Given the description of an element on the screen output the (x, y) to click on. 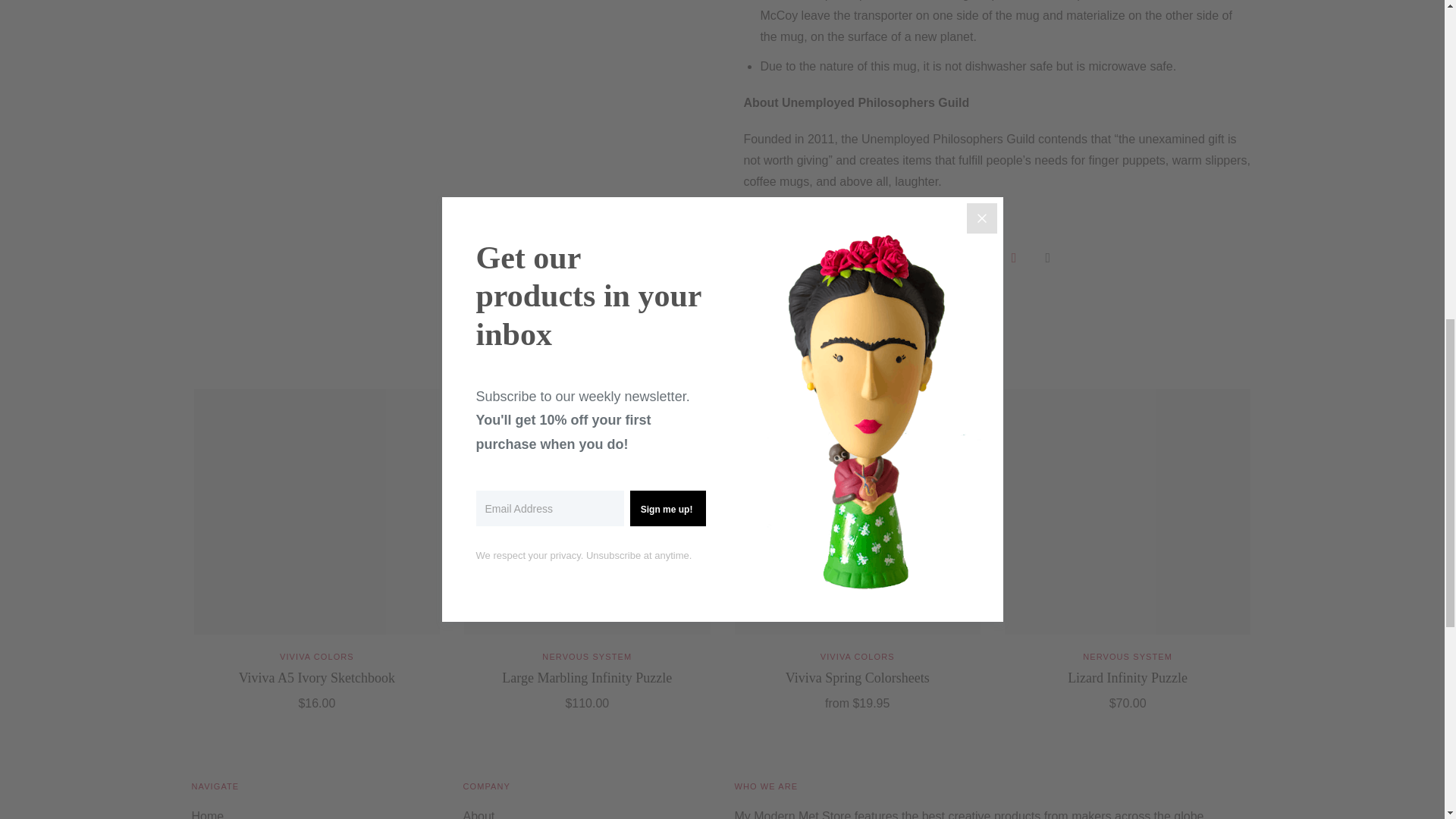
Viviva Colors (316, 655)
Nervous System (586, 655)
Viviva Colors (858, 655)
Nervous System (1127, 655)
